Given the description of an element on the screen output the (x, y) to click on. 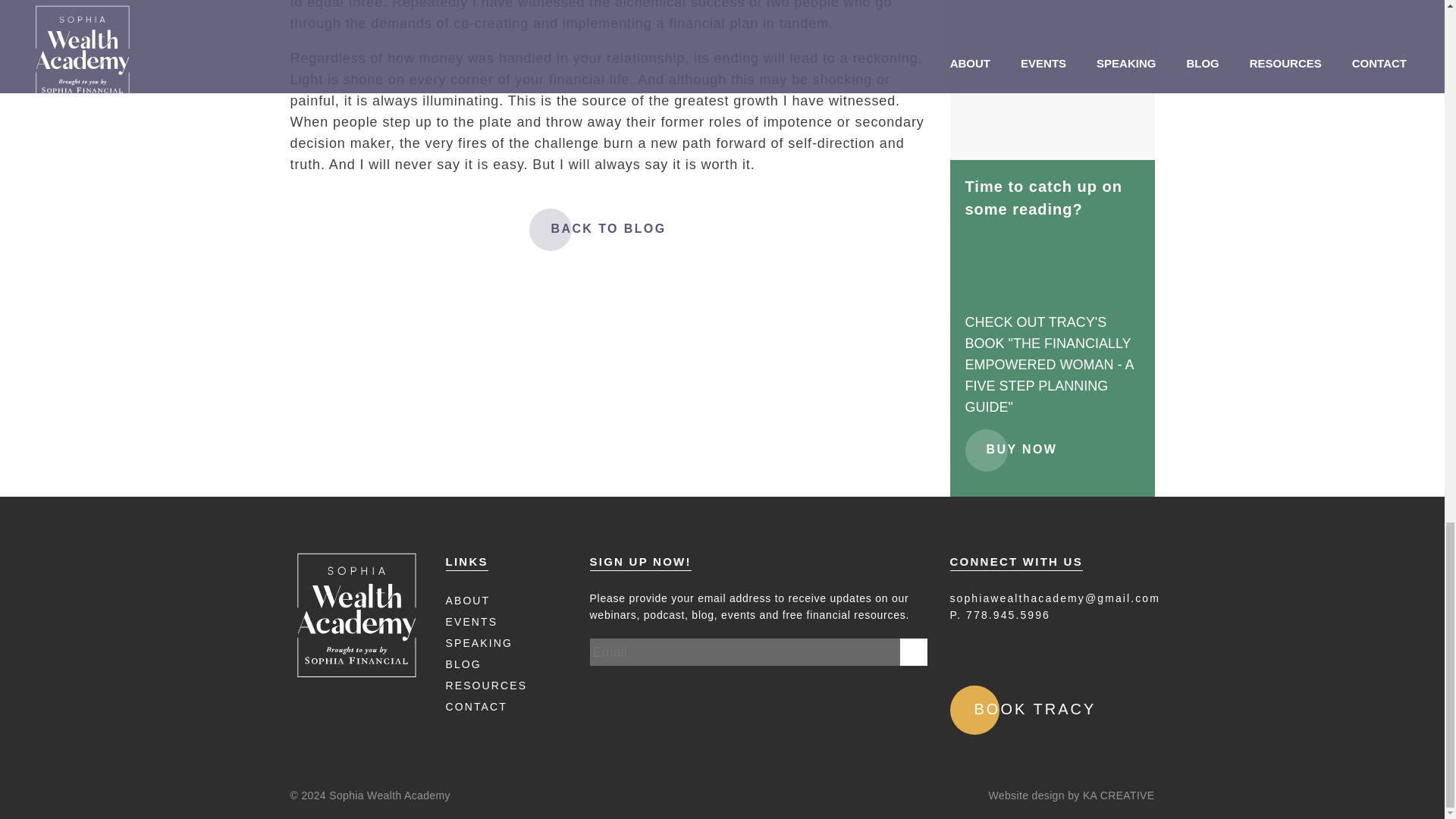
Sign up (912, 651)
SPEAKING (478, 643)
BLOG (463, 664)
ABOUT (467, 600)
EVENTS (471, 621)
RESOURCES (486, 685)
BUY NOW (1021, 449)
BACK TO BLOG (607, 229)
